Given the description of an element on the screen output the (x, y) to click on. 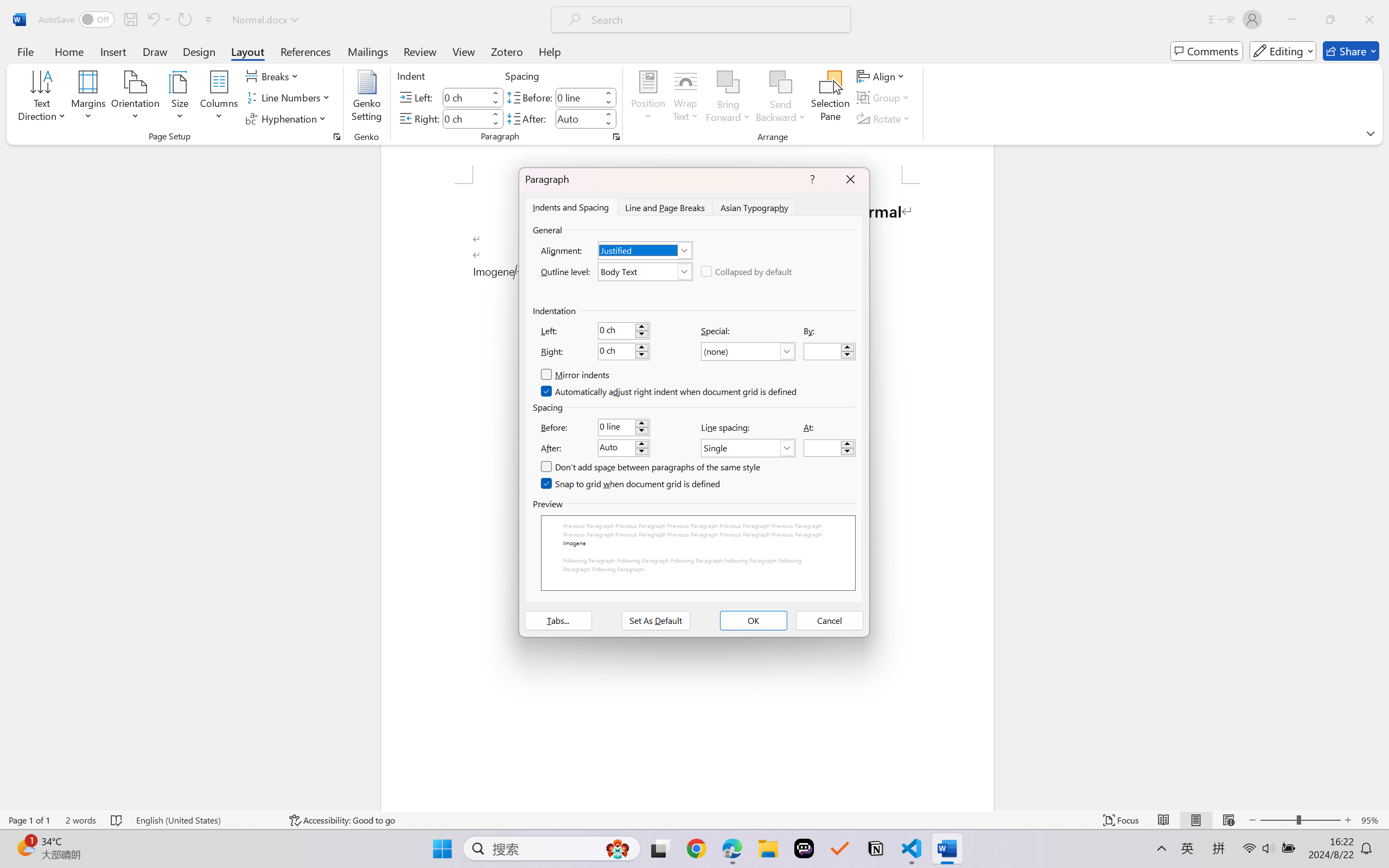
Don't add space between paragraphs of the same style (651, 466)
Line Numbers (289, 97)
Left: (623, 330)
Columns (219, 97)
Tabs... (558, 620)
Wrap Text (685, 97)
Genko Setting... (367, 97)
